Given the description of an element on the screen output the (x, y) to click on. 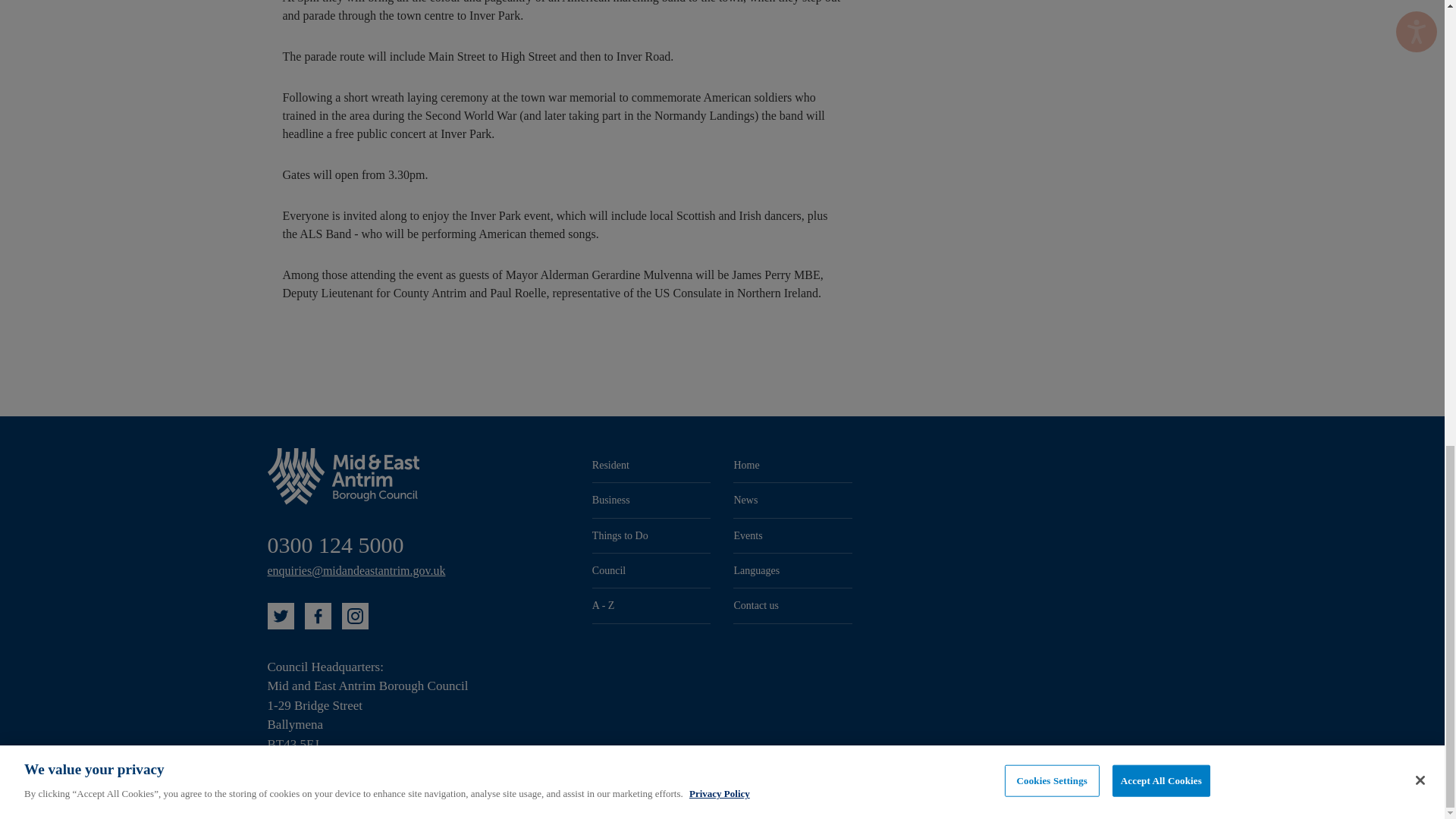
Languages (792, 570)
Events (792, 535)
Business (651, 499)
Home (792, 464)
Council (651, 570)
Contact us (792, 605)
Accessibility (1082, 771)
Resident (651, 464)
News (792, 499)
A - Z (651, 605)
Privacy Policy (1150, 771)
Things to Do (651, 535)
